Given the description of an element on the screen output the (x, y) to click on. 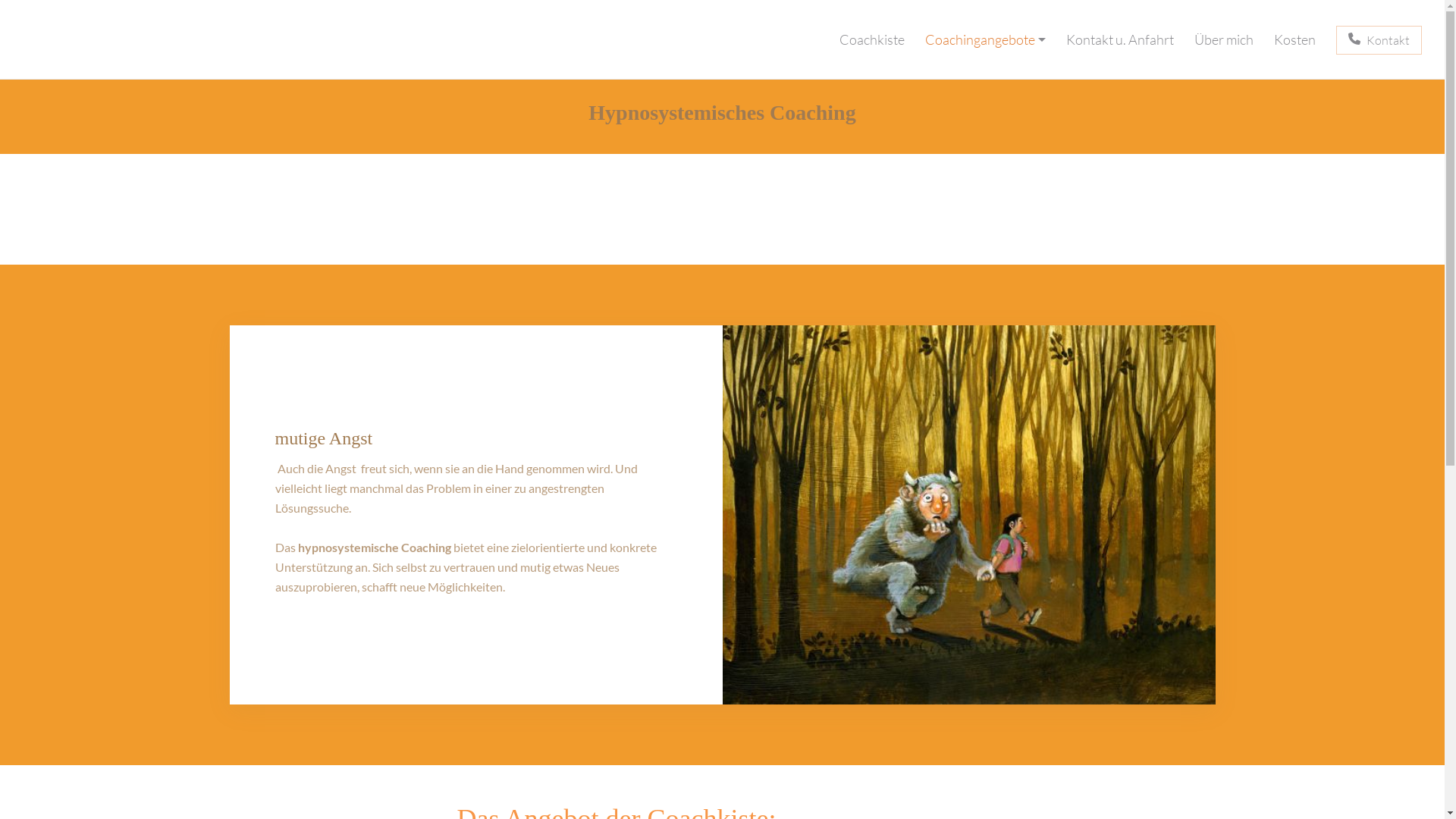
Kontakt u. Anfahrt Element type: text (1120, 39)
Kontakt Element type: text (1378, 39)
Kosten Element type: text (1294, 39)
Coachkiste Element type: text (871, 39)
